Given the description of an element on the screen output the (x, y) to click on. 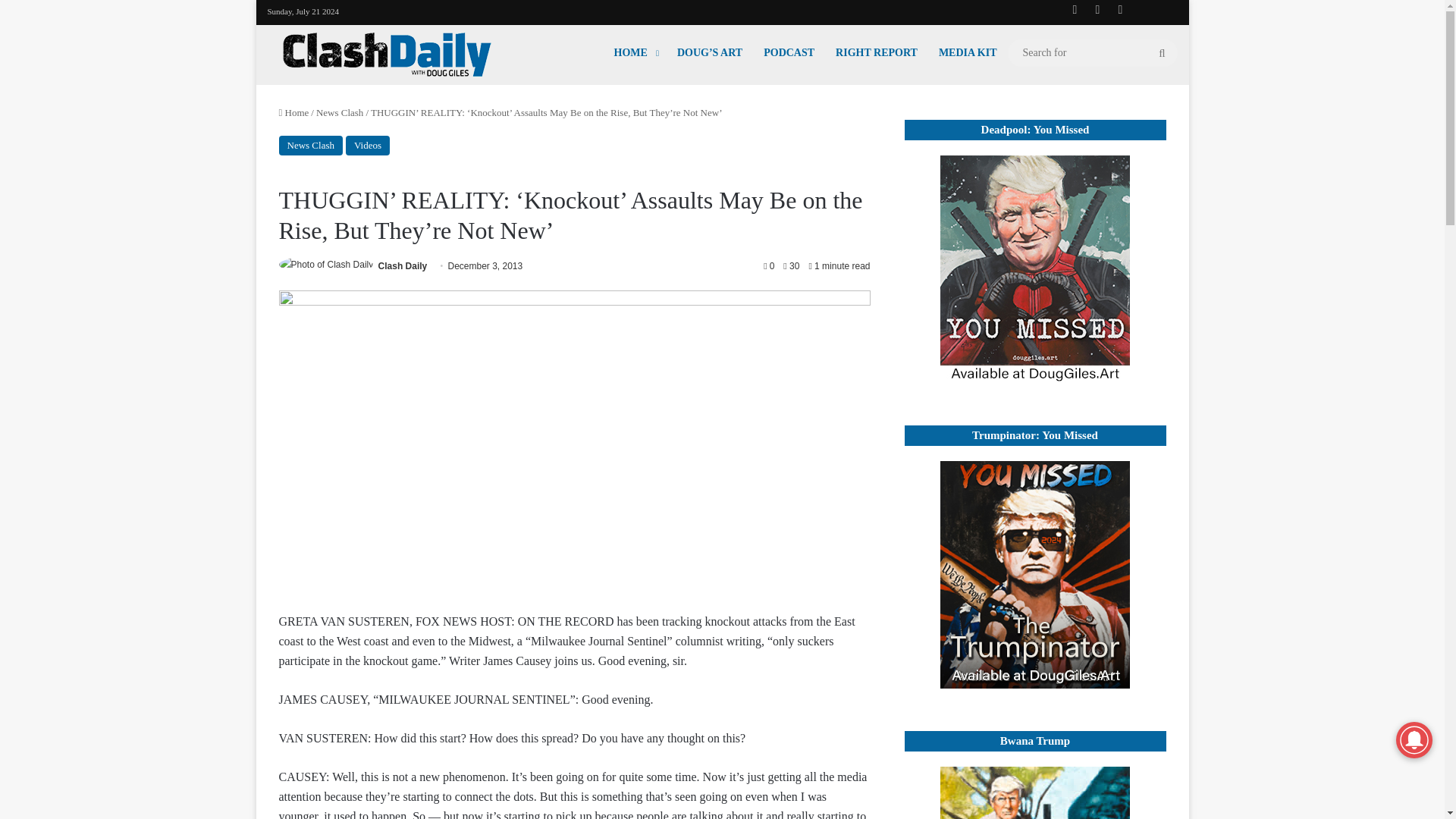
Clash Daily (403, 266)
MeWe (1142, 9)
Home (293, 112)
PODCAST (788, 52)
Videos (368, 145)
RIGHT REPORT (876, 52)
Facebook (1074, 9)
News Clash (310, 145)
Search for (1091, 52)
Instagram (1119, 9)
News Clash (338, 112)
MEDIA KIT (967, 52)
Clash Daily (403, 266)
HOME (635, 52)
YouTube (1097, 9)
